Given the description of an element on the screen output the (x, y) to click on. 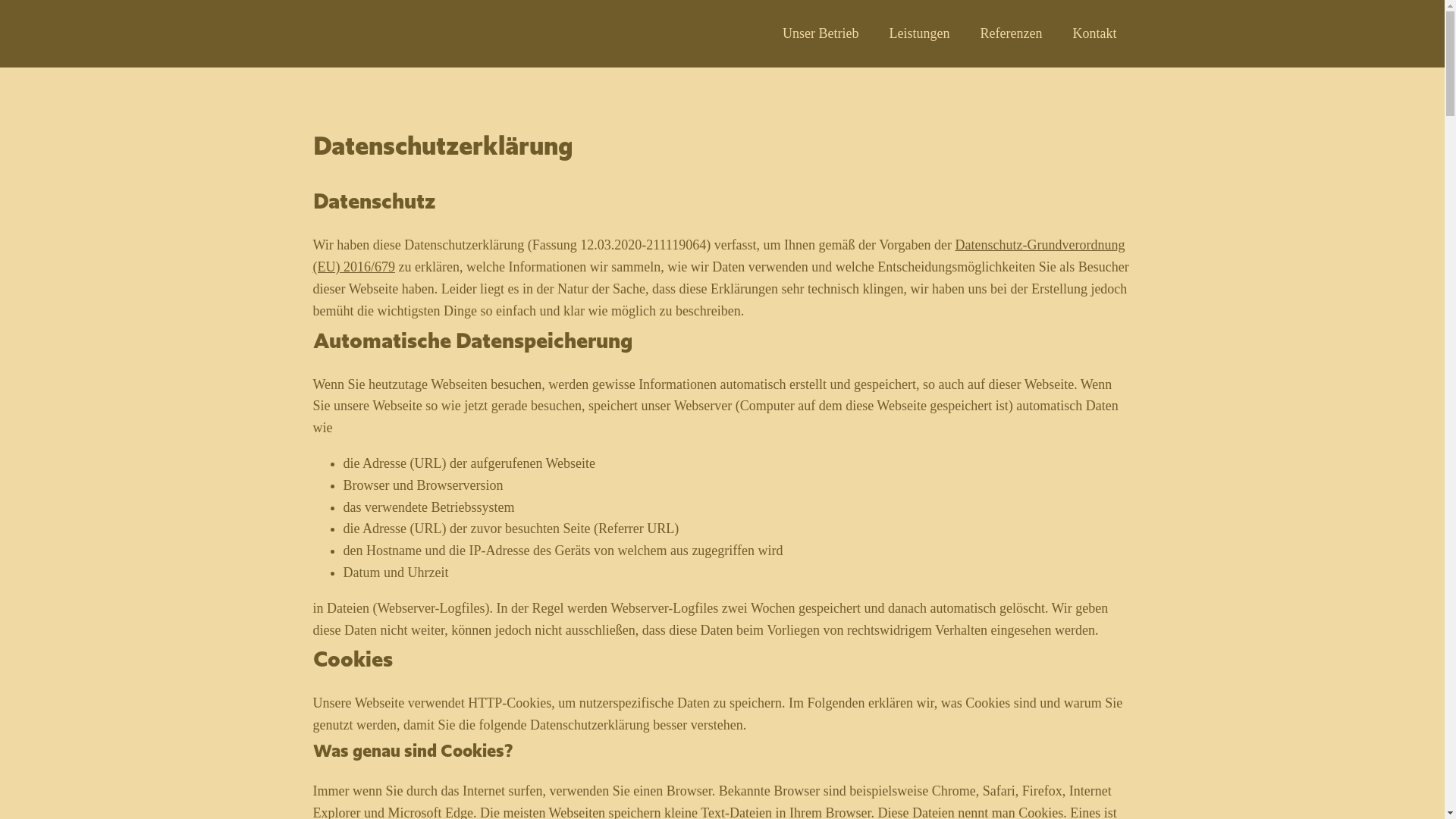
Referenzen Element type: text (1011, 33)
Kontakt Element type: text (1094, 33)
Datenschutz-Grundverordnung (EU) 2016/679 Element type: text (718, 255)
Leistungen Element type: text (919, 33)
Unser Betrieb Element type: text (820, 33)
